Given the description of an element on the screen output the (x, y) to click on. 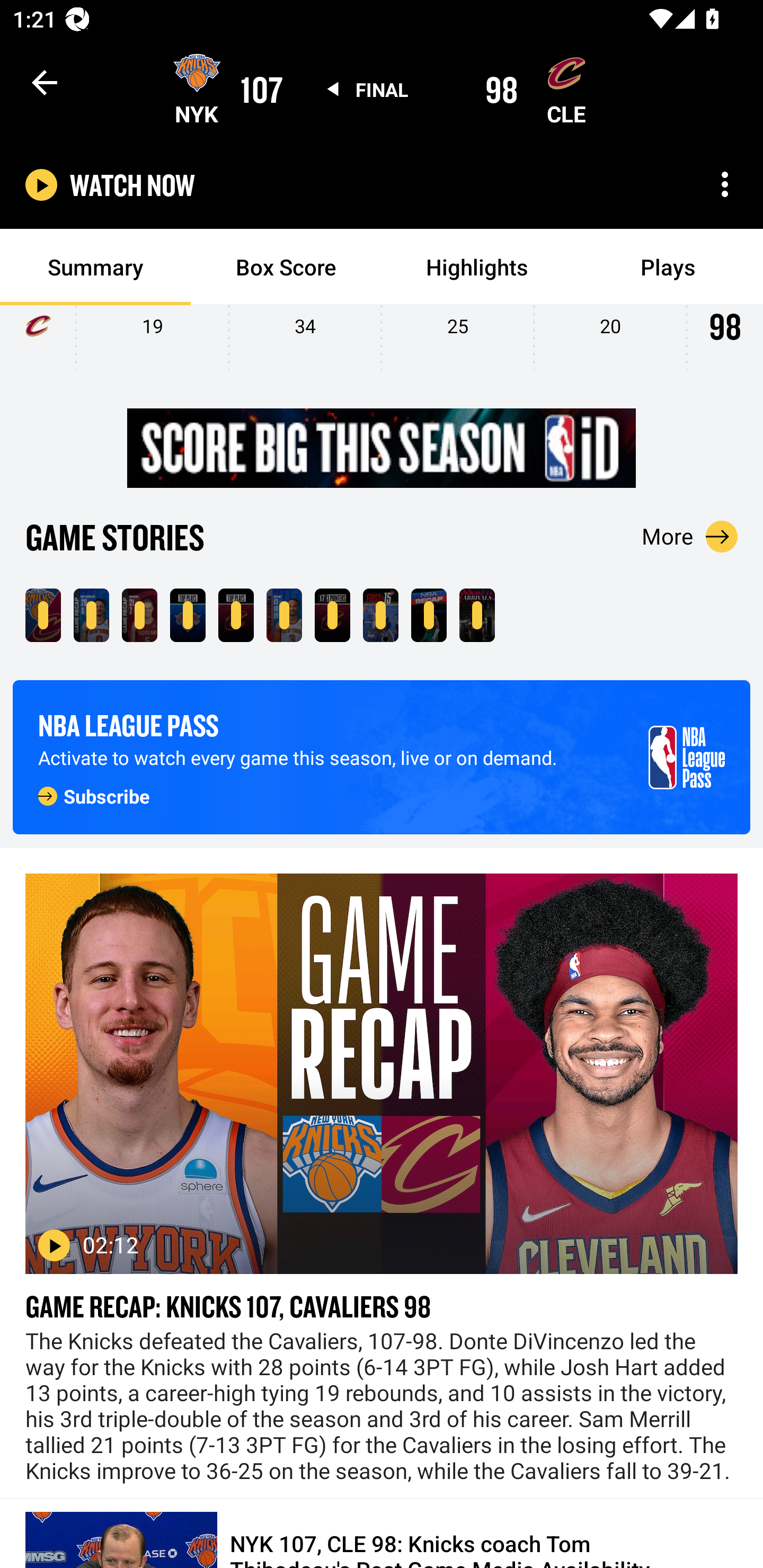
Navigate up (44, 82)
More options (724, 183)
WATCH NOW (132, 184)
Box Score (285, 266)
Highlights (476, 266)
Plays (667, 266)
19 34 25 20 98 (381, 343)
More (689, 535)
NYK 107, CLE 98 - Mar 3 NEW (43, 614)
Highlights From Sam Merrill's 21-Point Game NEW (139, 614)
NYK's Top Plays from NYK vs. CLE NEW (187, 614)
CLE's Top Plays from NYK vs. CLE NEW (236, 614)
Highlights from Josh Hart's Triple-Double NEW (284, 614)
All 3-pointers from CLE's 17 3-pointer Night NEW (332, 614)
First To 15, Mar. 3rd NEW (380, 614)
Sunday's Recap NEW (428, 614)
Steppin' Into Sunday 🔥 NEW (477, 614)
